Given the description of an element on the screen output the (x, y) to click on. 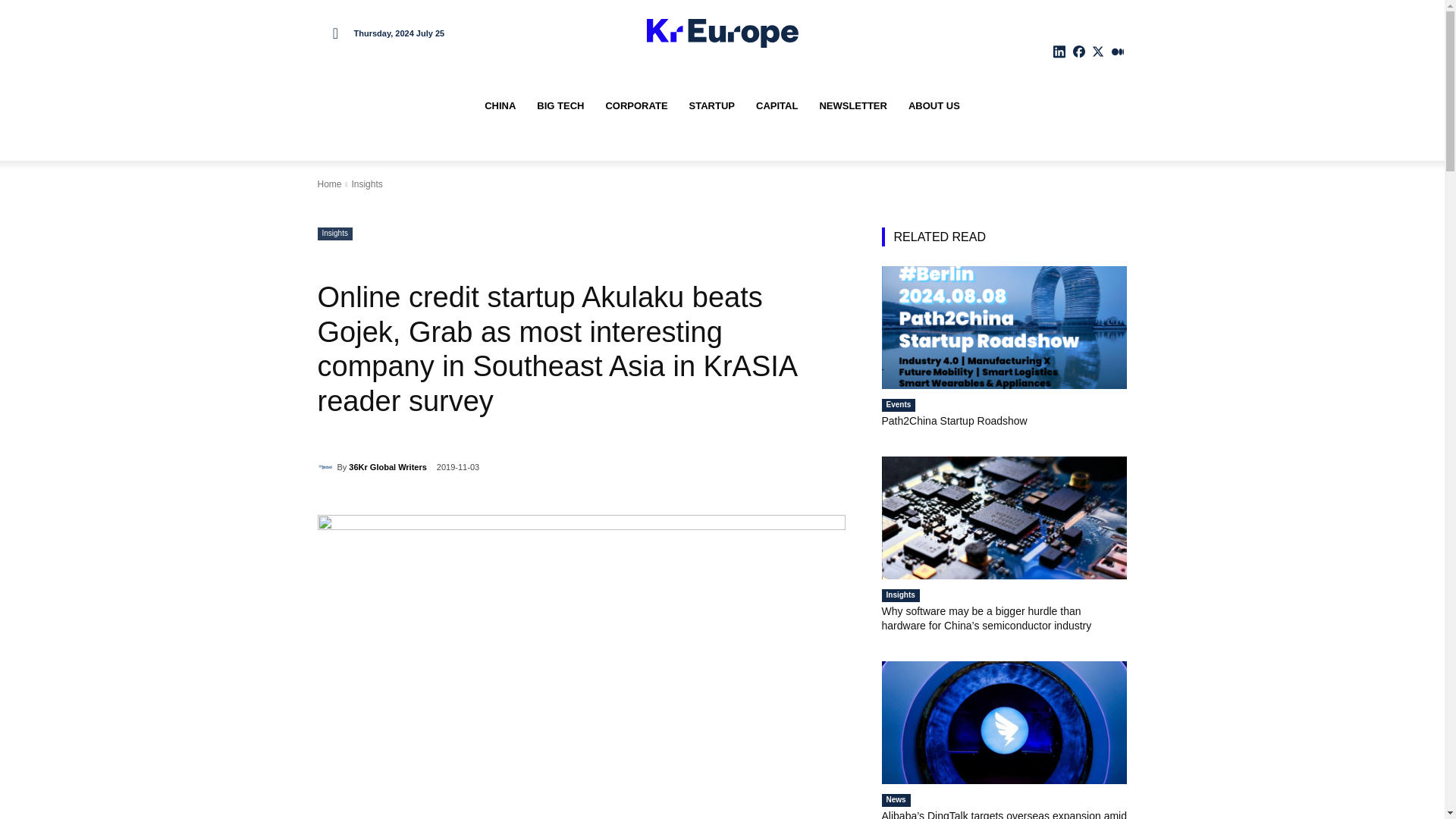
36Kr Global Writers (326, 467)
STARTUP (711, 105)
CORPORATE (636, 105)
NEWSLETTER (853, 105)
36Kr Global Writers (387, 466)
BIG TECH (559, 105)
Insights (334, 233)
Insights (365, 184)
ABOUT US (934, 105)
Home (328, 184)
CAPITAL (776, 105)
View all posts in Insights (365, 184)
CHINA (499, 105)
